Given the description of an element on the screen output the (x, y) to click on. 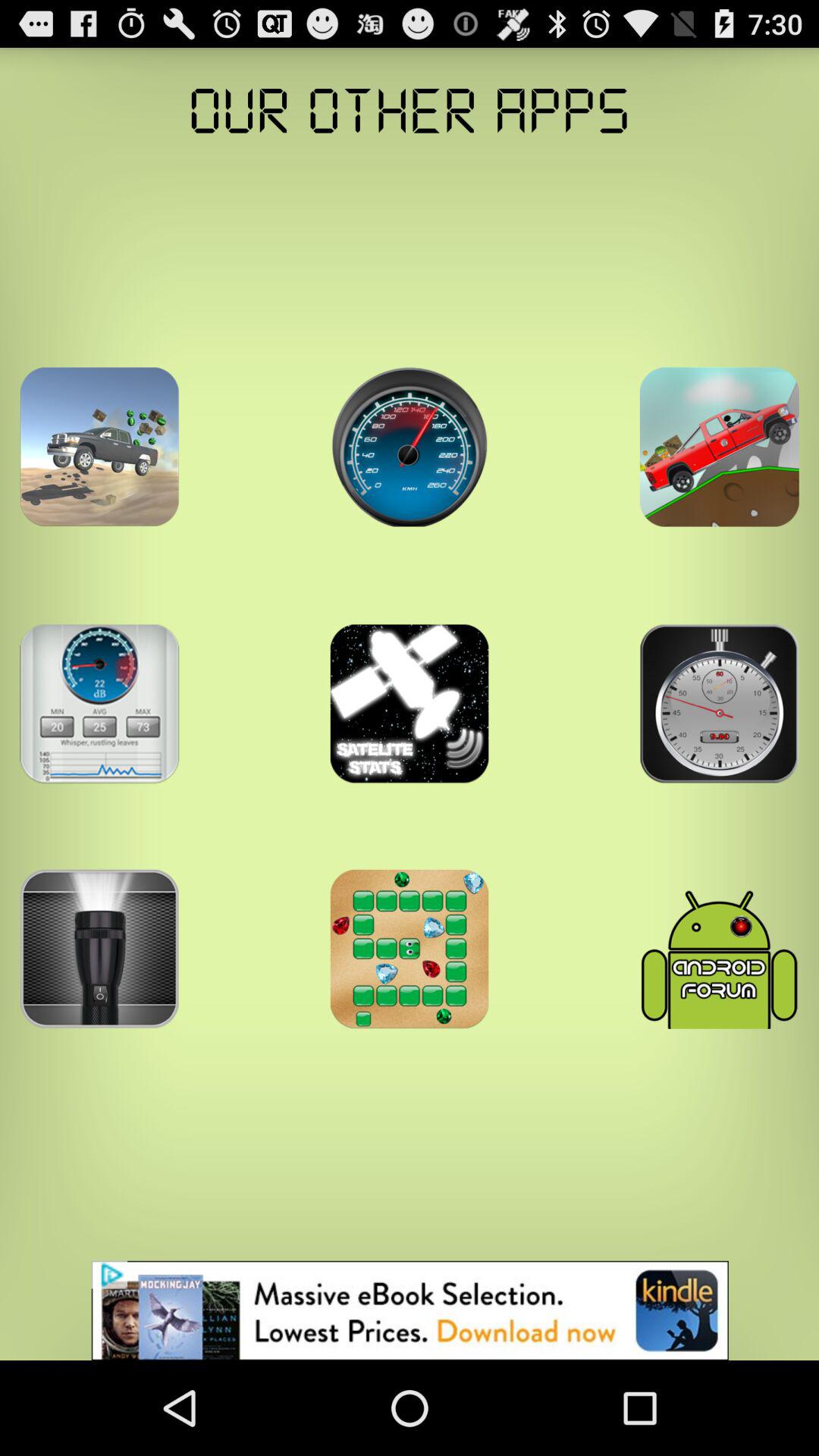
find new apps (99, 948)
